Given the description of an element on the screen output the (x, y) to click on. 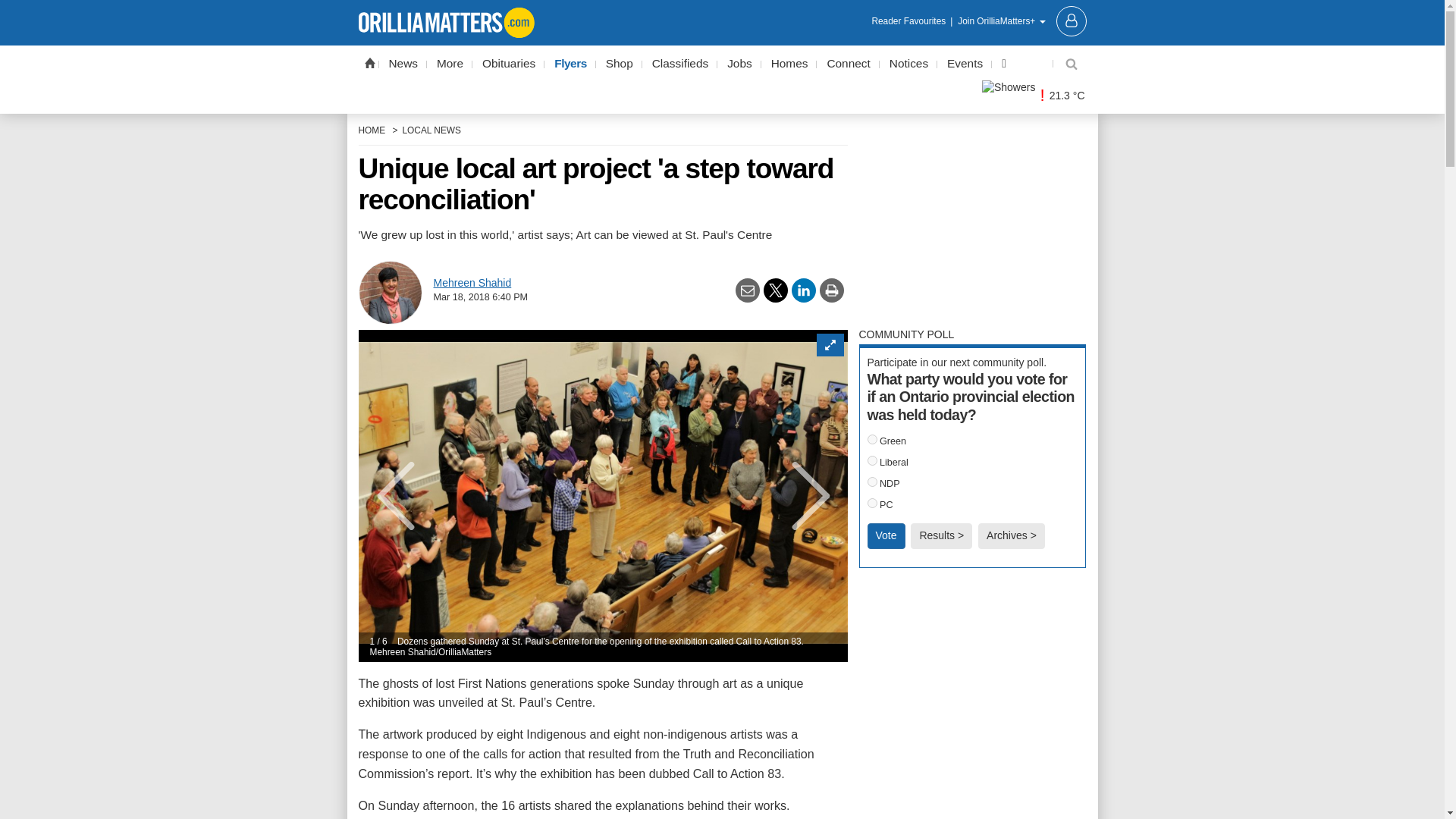
123123 (872, 460)
Reader Favourites (912, 21)
123124 (872, 481)
123125 (872, 502)
Home (368, 62)
News (403, 64)
123122 (872, 439)
Expand (829, 344)
